Given the description of an element on the screen output the (x, y) to click on. 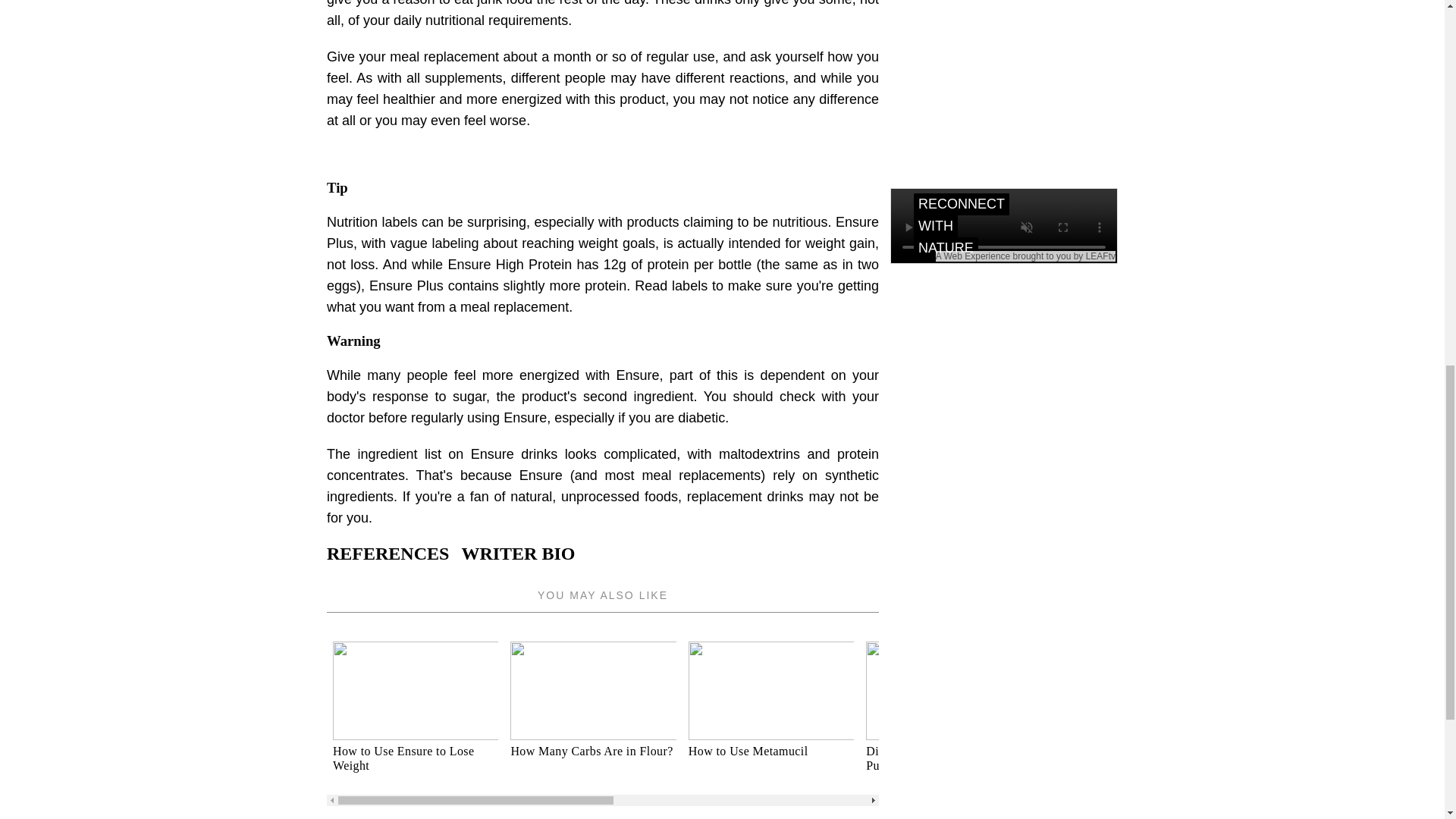
How to Use Ensure to Lose Weight (415, 758)
How Many Carbs Are in Flour? (593, 750)
Coconut Flour Substitutes (1126, 750)
How Many Carbs Are in Flour? (593, 717)
How to Use Metamucil (770, 750)
How to Use Metamucil (770, 717)
How to Use Ensure to Lose Weight (415, 717)
Coconut Flour Substitutes (1126, 717)
How to Take Glucomannan (1304, 717)
How to Take Glucomannan (1304, 750)
